Given the description of an element on the screen output the (x, y) to click on. 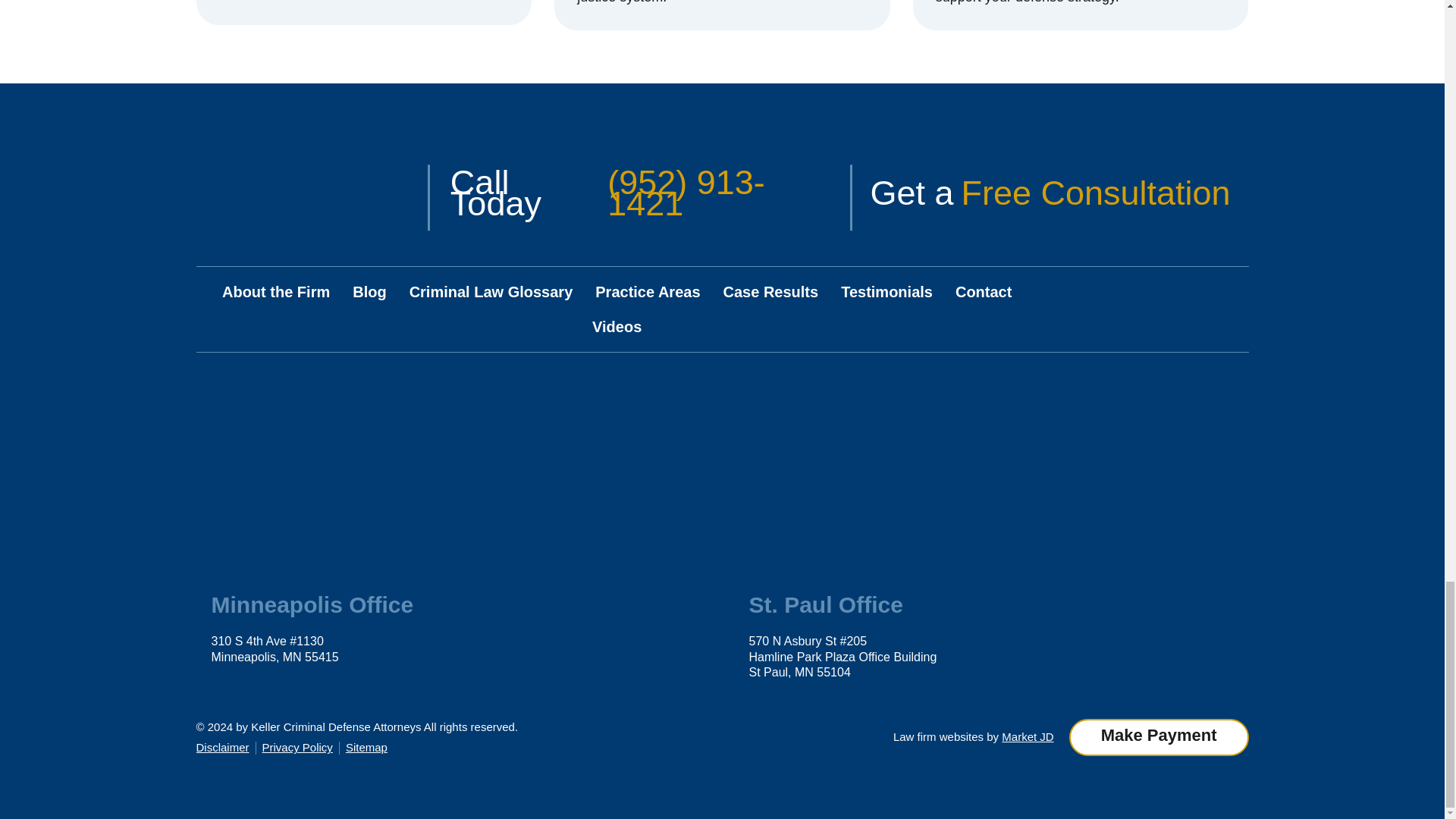
myMap (452, 477)
facebook (1176, 293)
mysecend (991, 477)
social (1228, 293)
